Given the description of an element on the screen output the (x, y) to click on. 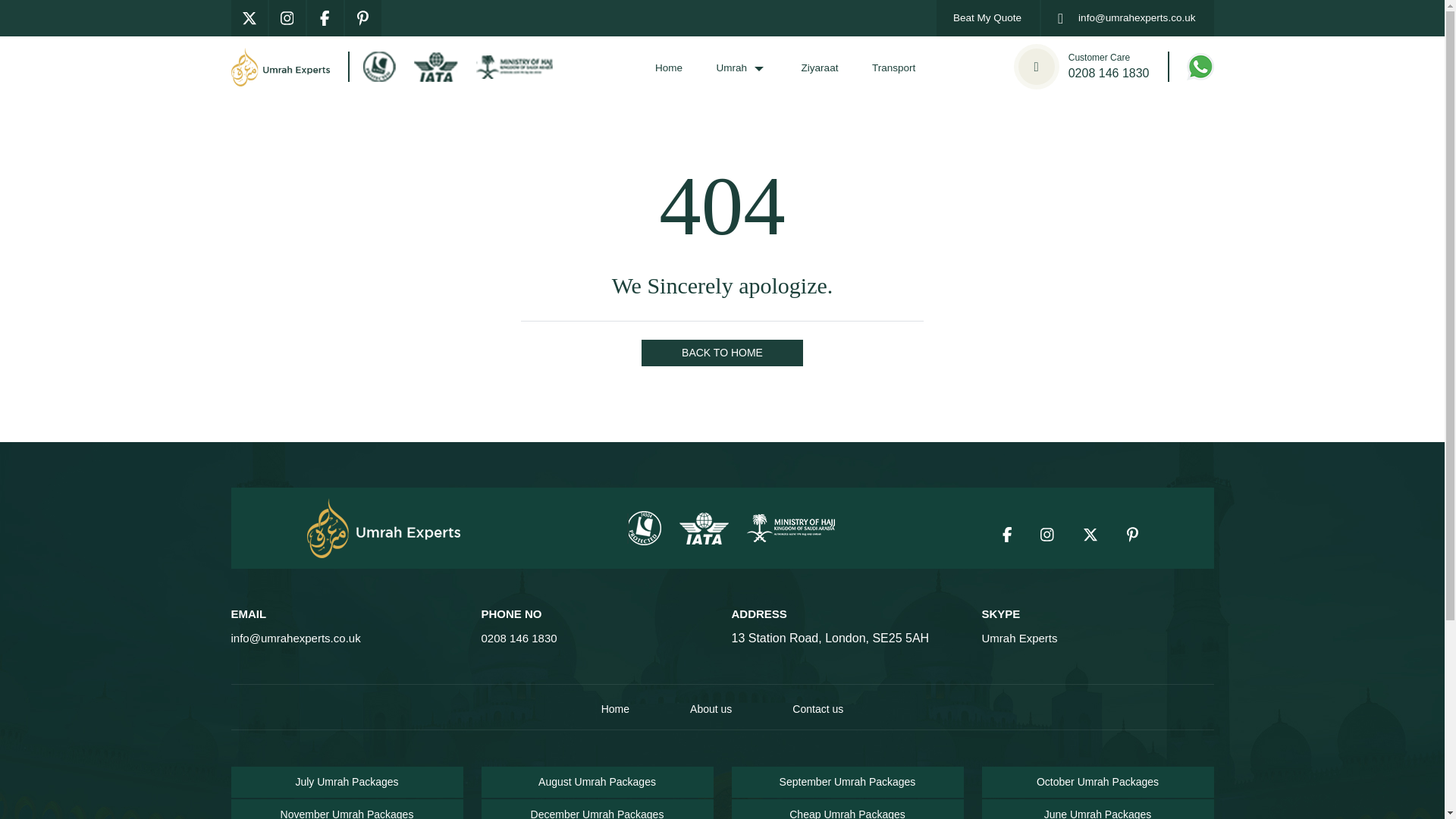
BACK TO HOME (722, 352)
Home (668, 67)
Umrah (1083, 66)
Transport (741, 67)
Beat My Quote (893, 67)
Ziyaraat (987, 18)
